Given the description of an element on the screen output the (x, y) to click on. 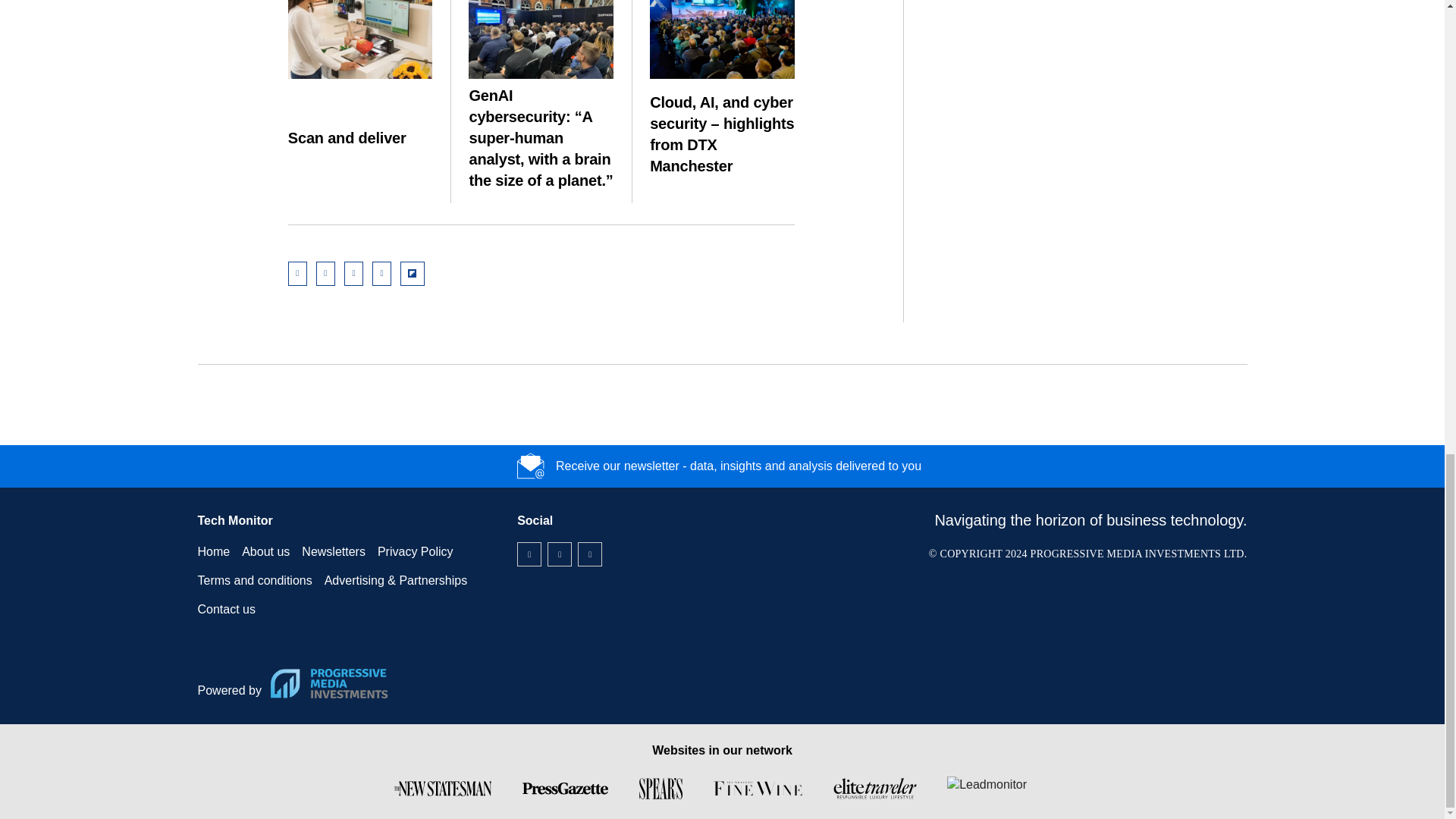
Scan and deliver (360, 39)
